Given the description of an element on the screen output the (x, y) to click on. 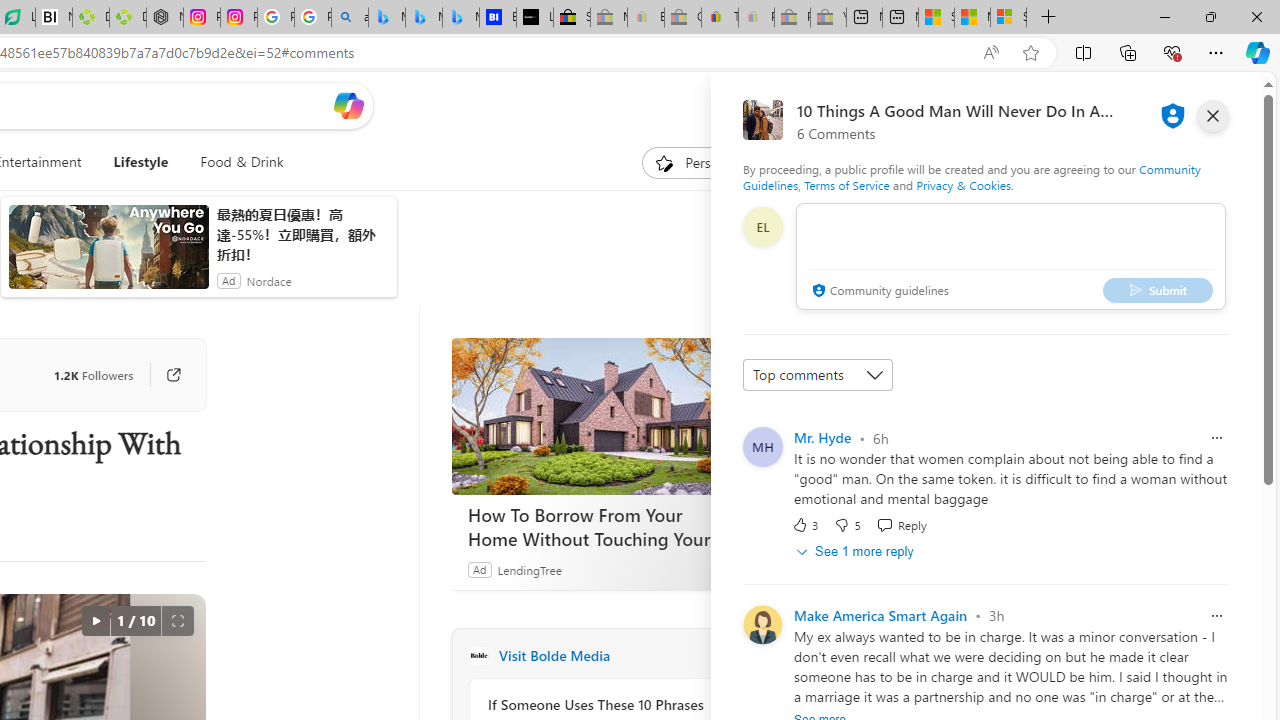
Microsoft rewards (1137, 105)
Notifications (1176, 105)
Profile Picture (762, 624)
Microsoft Bing Travel - Flights from Hong Kong to Bangkok (386, 17)
Lifestyle (141, 162)
alabama high school quarterback dies - Search (349, 17)
3 Like (804, 524)
Report comment (1216, 615)
anim-content (107, 255)
Open Copilot (347, 105)
Press Room - eBay Inc. - Sleeping (792, 17)
